Given the description of an element on the screen output the (x, y) to click on. 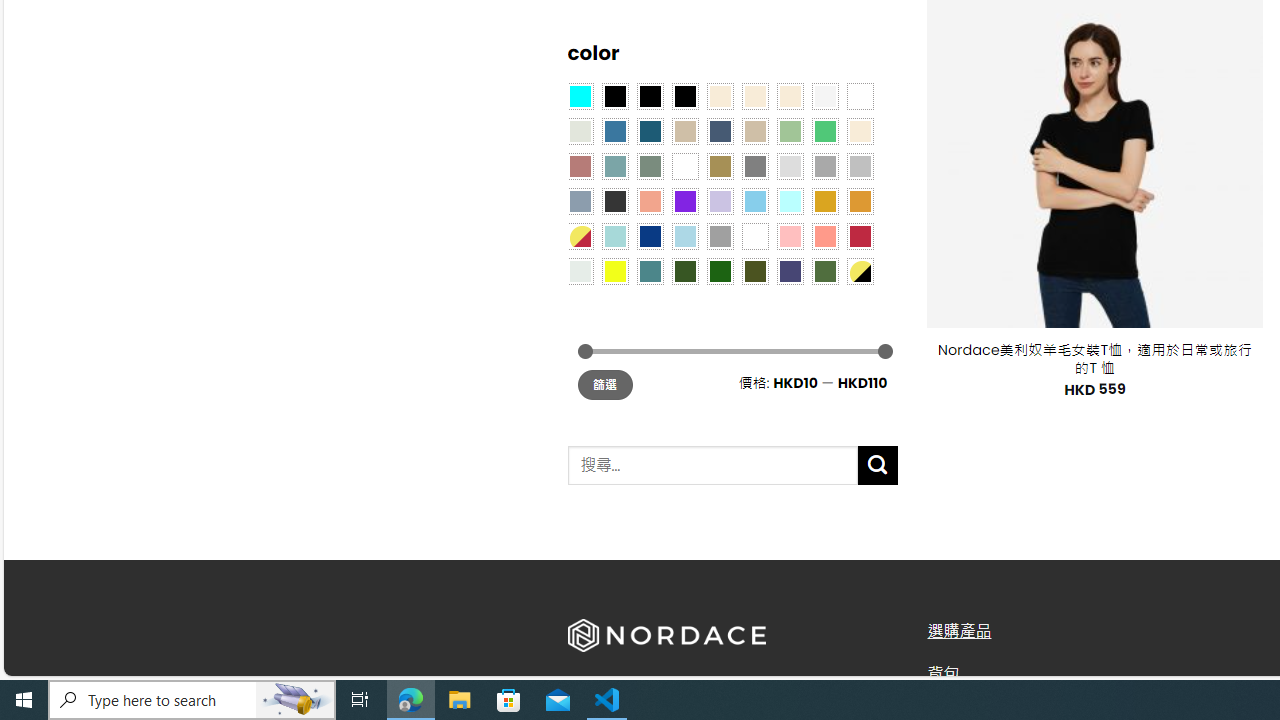
Dull Nickle (579, 270)
